Given the description of an element on the screen output the (x, y) to click on. 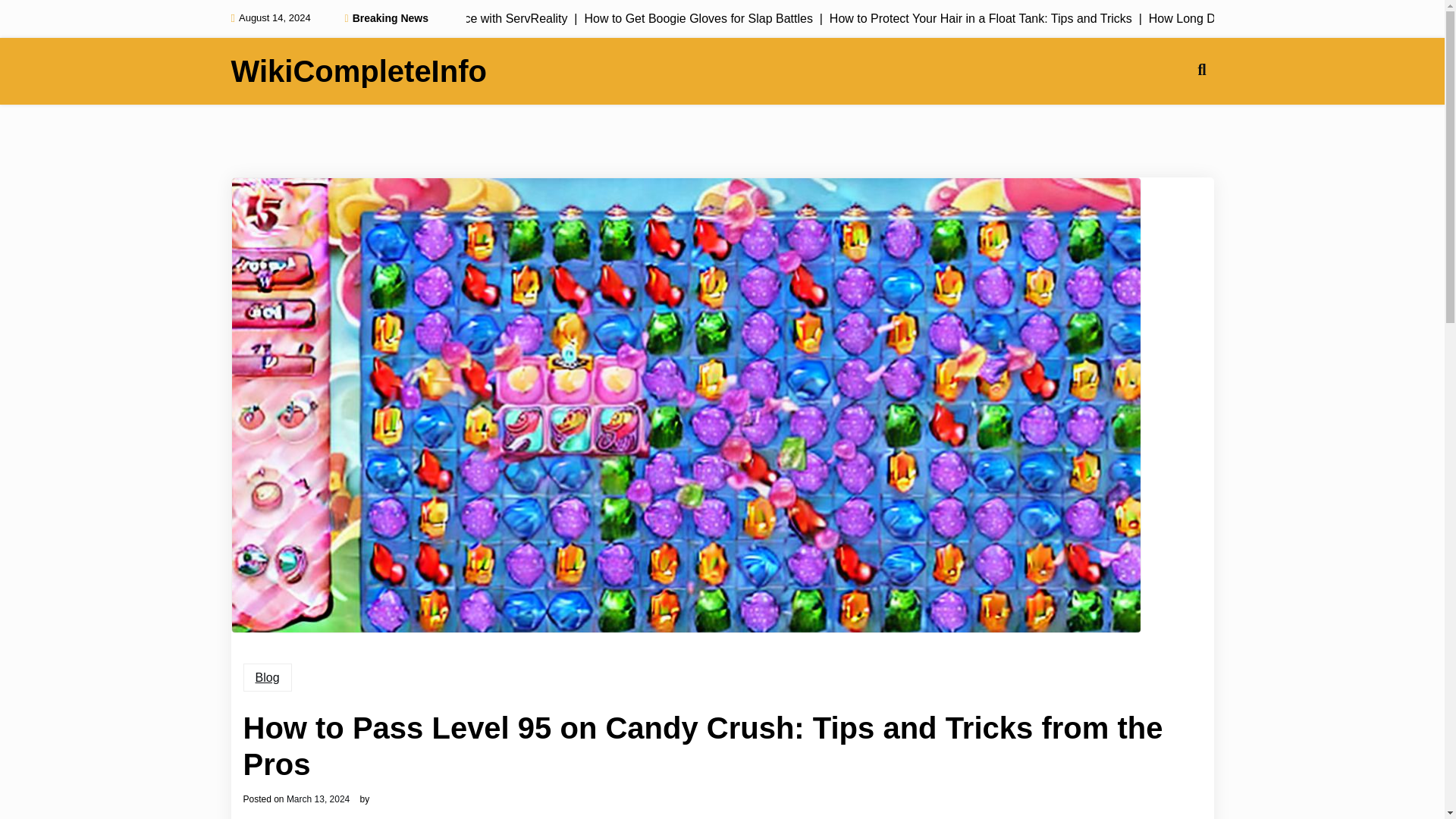
WikiCompleteInfo (358, 71)
Blog (267, 677)
March 13, 2024 (317, 798)
